Given the description of an element on the screen output the (x, y) to click on. 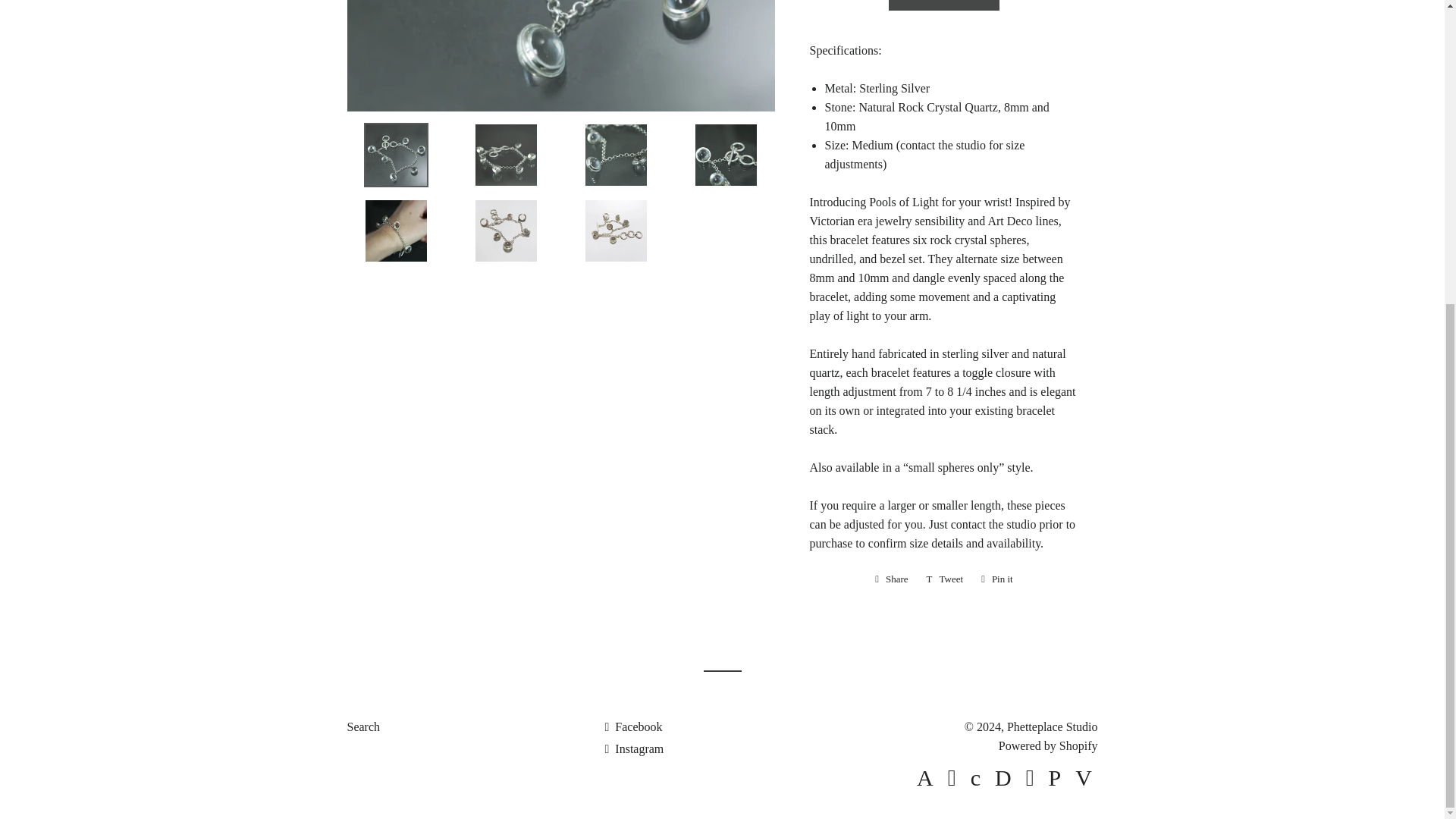
Phetteplace Studio on Facebook (633, 726)
Tweet on Twitter (944, 579)
Share on Facebook (891, 579)
Pin on Pinterest (997, 579)
Phetteplace Studio on Instagram (633, 748)
